Given the description of an element on the screen output the (x, y) to click on. 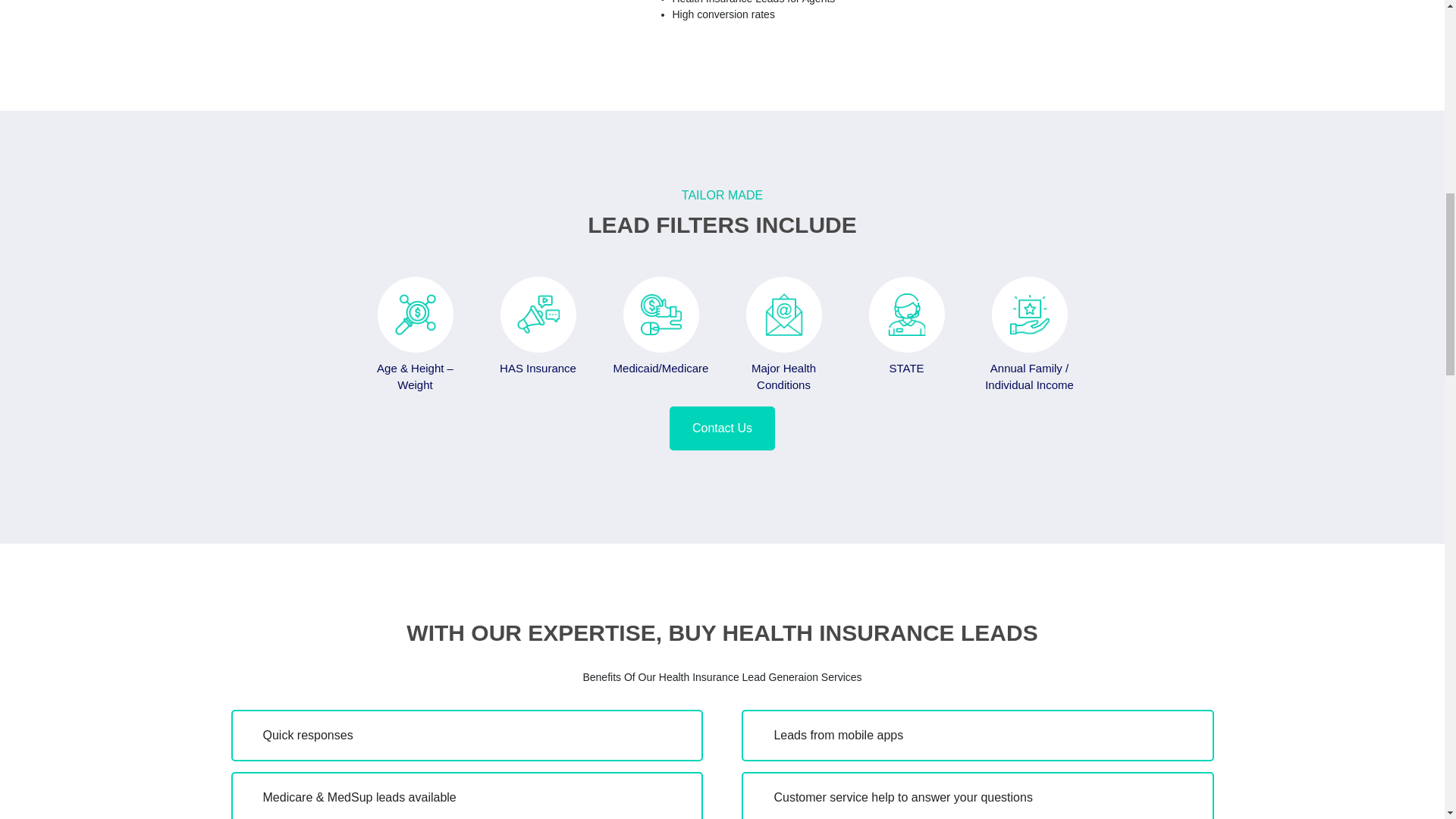
STATE (721, 428)
HAS Insurance (905, 325)
Major Health Conditions (537, 325)
